Given the description of an element on the screen output the (x, y) to click on. 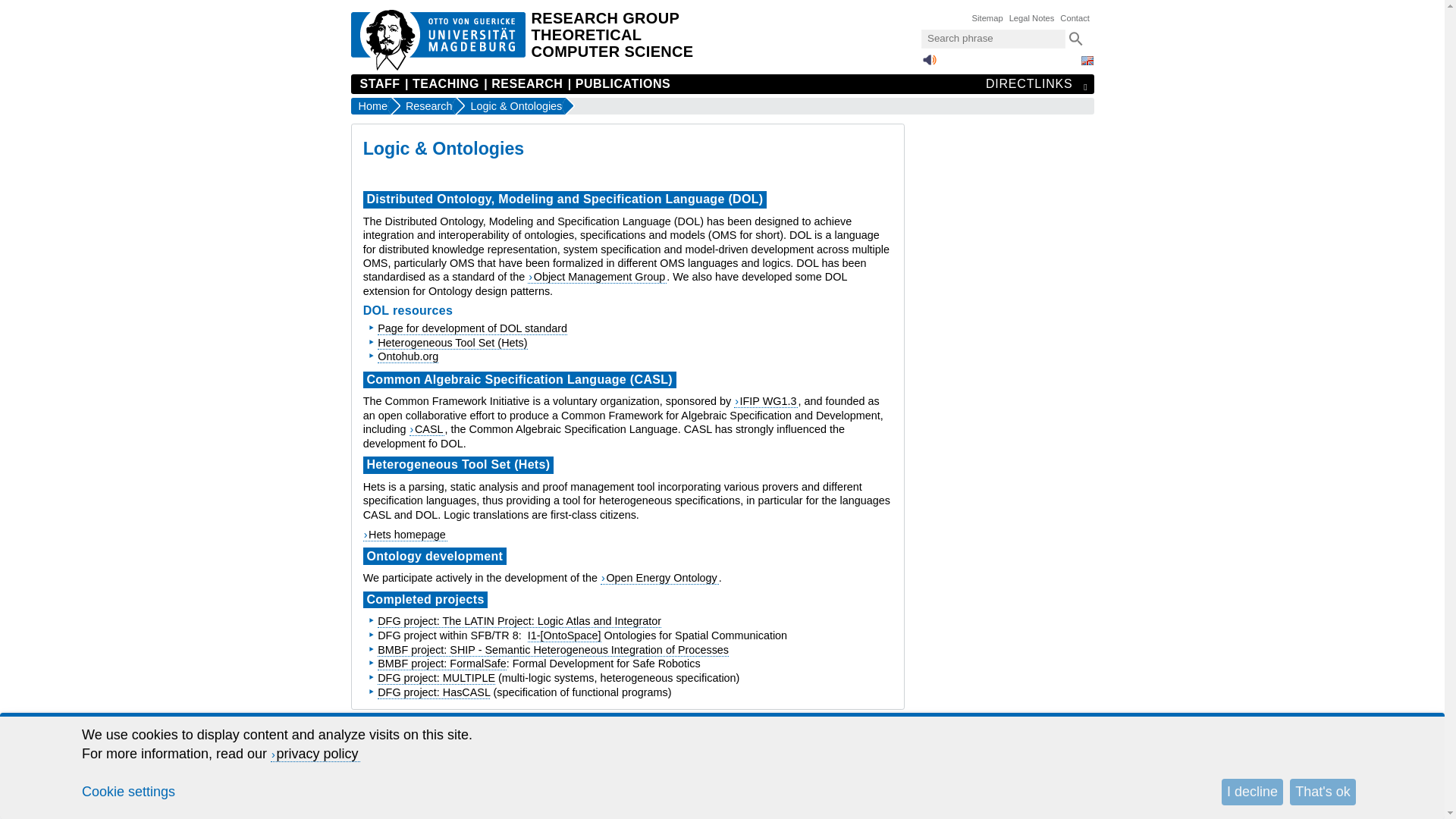
DFG project: MULTIPLE (436, 677)
Ontohub.org (407, 356)
Research (424, 105)
Open Energy Ontology (659, 577)
DFG project: HasCASL (433, 692)
Page for development of DOL standard (472, 328)
Webmaster (601, 725)
BMBF project: FormalSafe (441, 663)
Homepage (611, 39)
Hets homepage (404, 534)
CASL (427, 428)
RESEARCH (522, 84)
Home (370, 105)
PUBLICATIONS (618, 84)
